Given the description of an element on the screen output the (x, y) to click on. 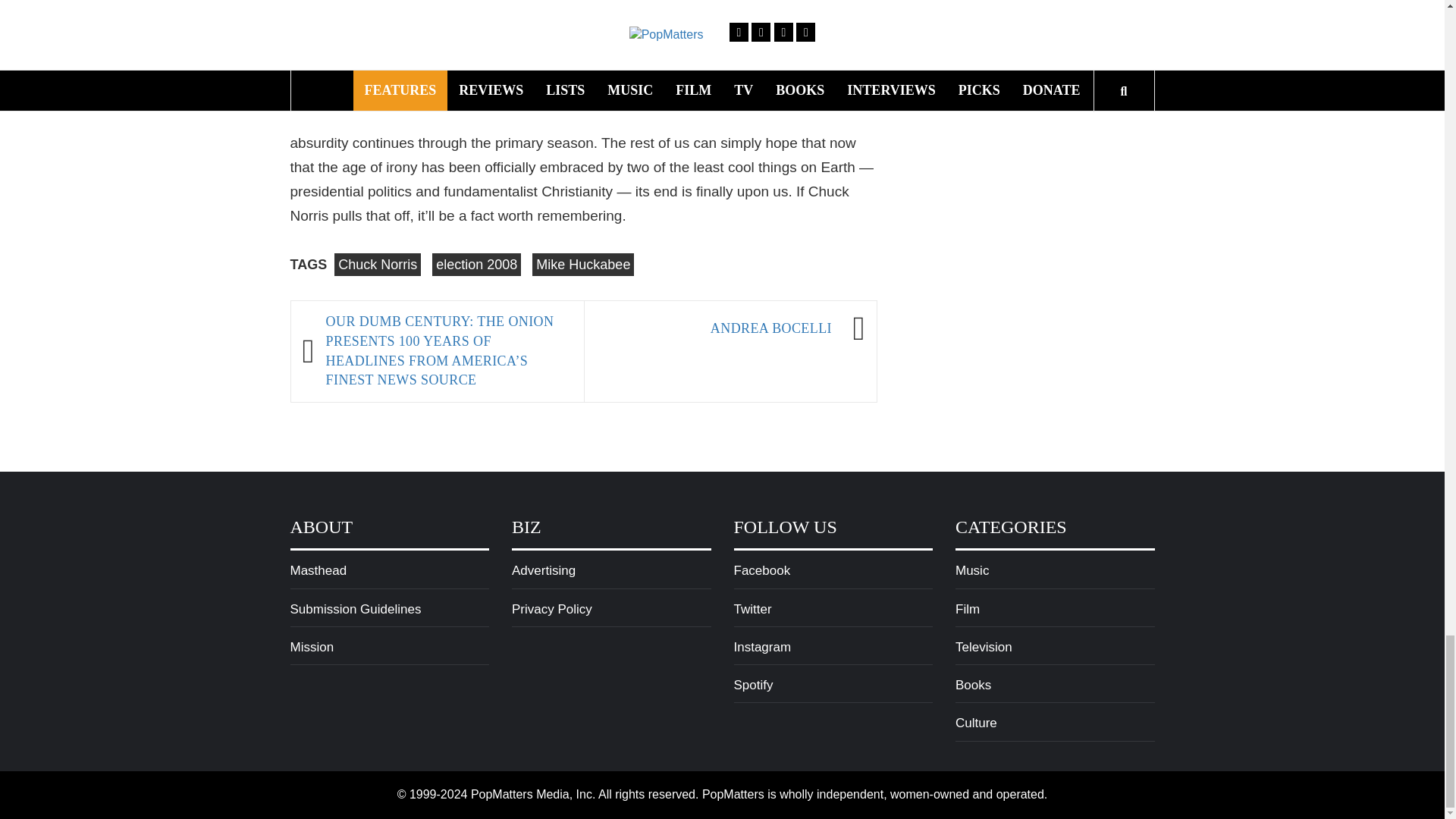
ANDREA BOCELLI (714, 328)
Mike Huckabee (582, 264)
Chuck Norris (377, 264)
election 2008 (476, 264)
